Given the description of an element on the screen output the (x, y) to click on. 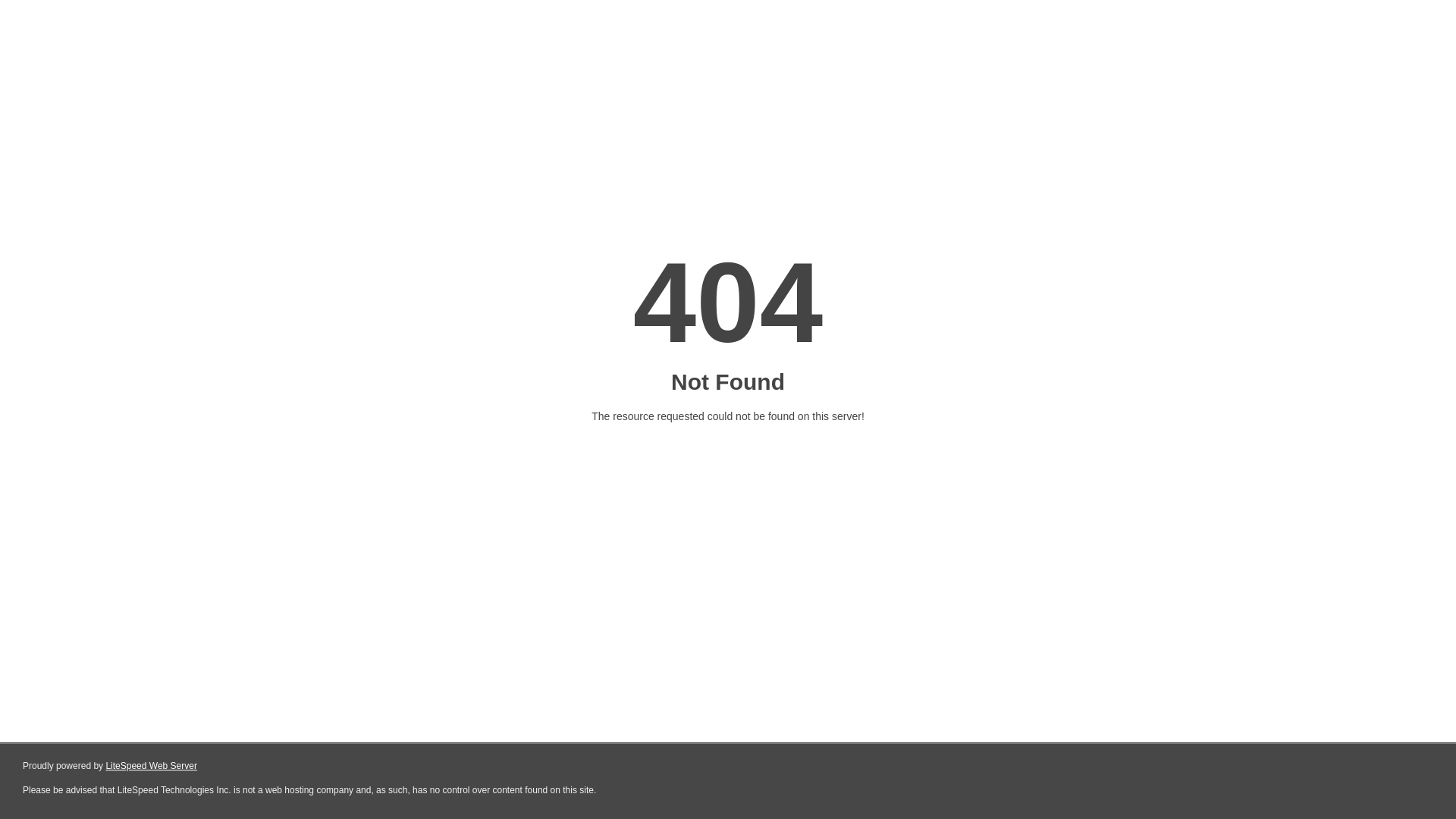
LiteSpeed Web Server Element type: text (151, 765)
